Given the description of an element on the screen output the (x, y) to click on. 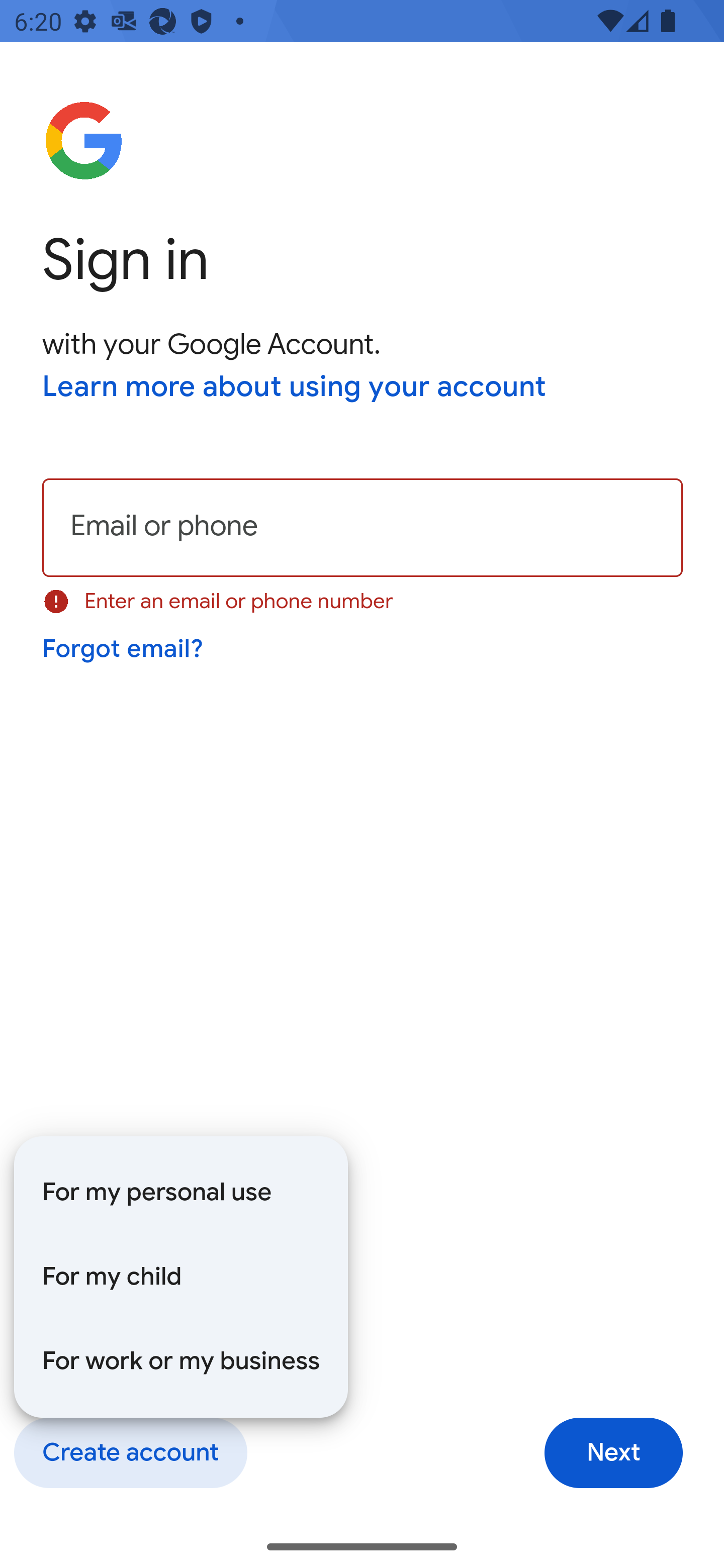
Learn more about using your account (294, 388)
Forgot email? (123, 648)
Create account (129, 1453)
Next (613, 1453)
